Given the description of an element on the screen output the (x, y) to click on. 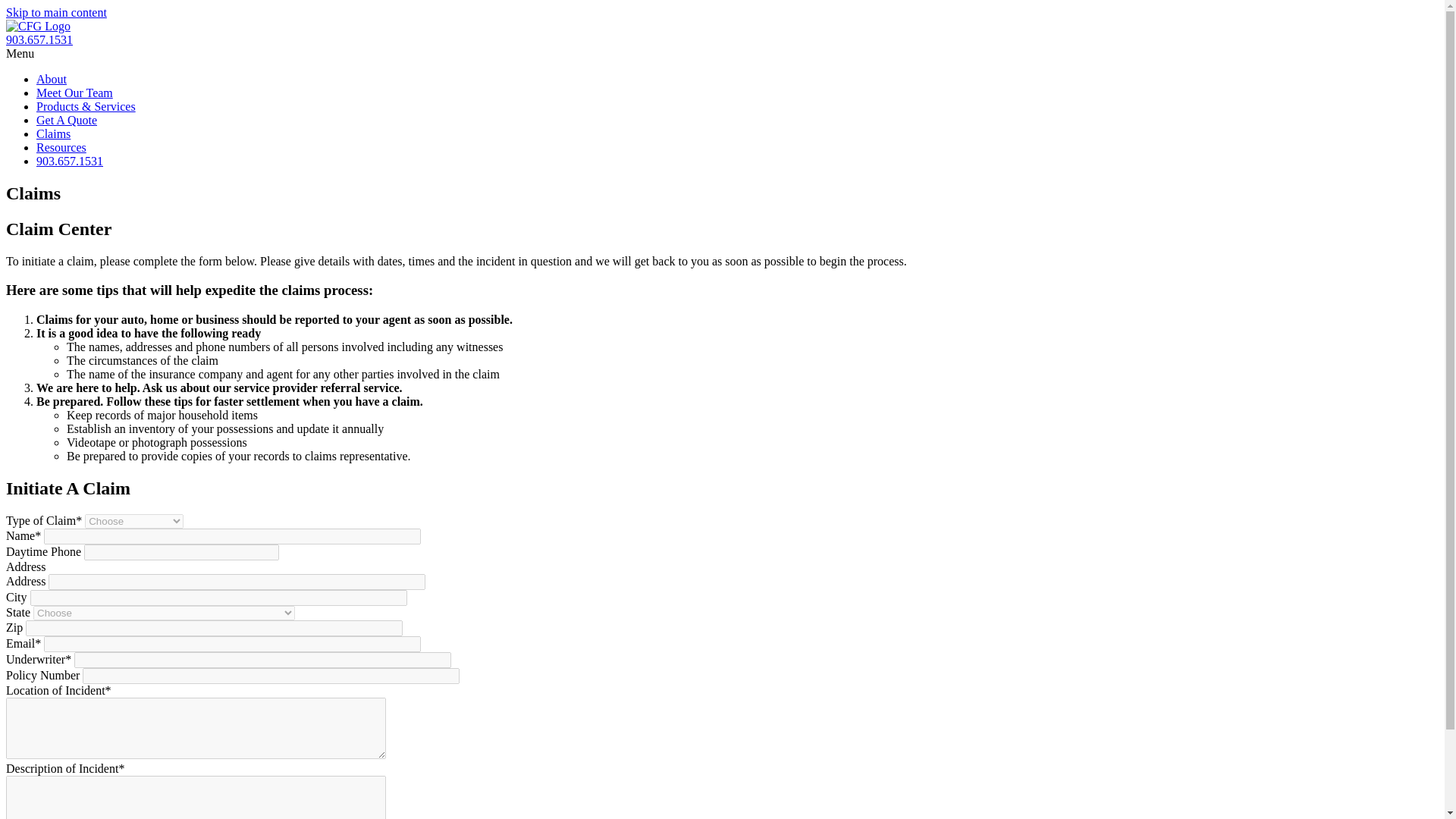
Meet Our Team (74, 92)
Claims (52, 133)
903.657.1531 (38, 39)
Resources (60, 146)
Skip to main content (55, 11)
Get A Quote (66, 119)
About (51, 78)
903.657.1531 (69, 160)
